Given the description of an element on the screen output the (x, y) to click on. 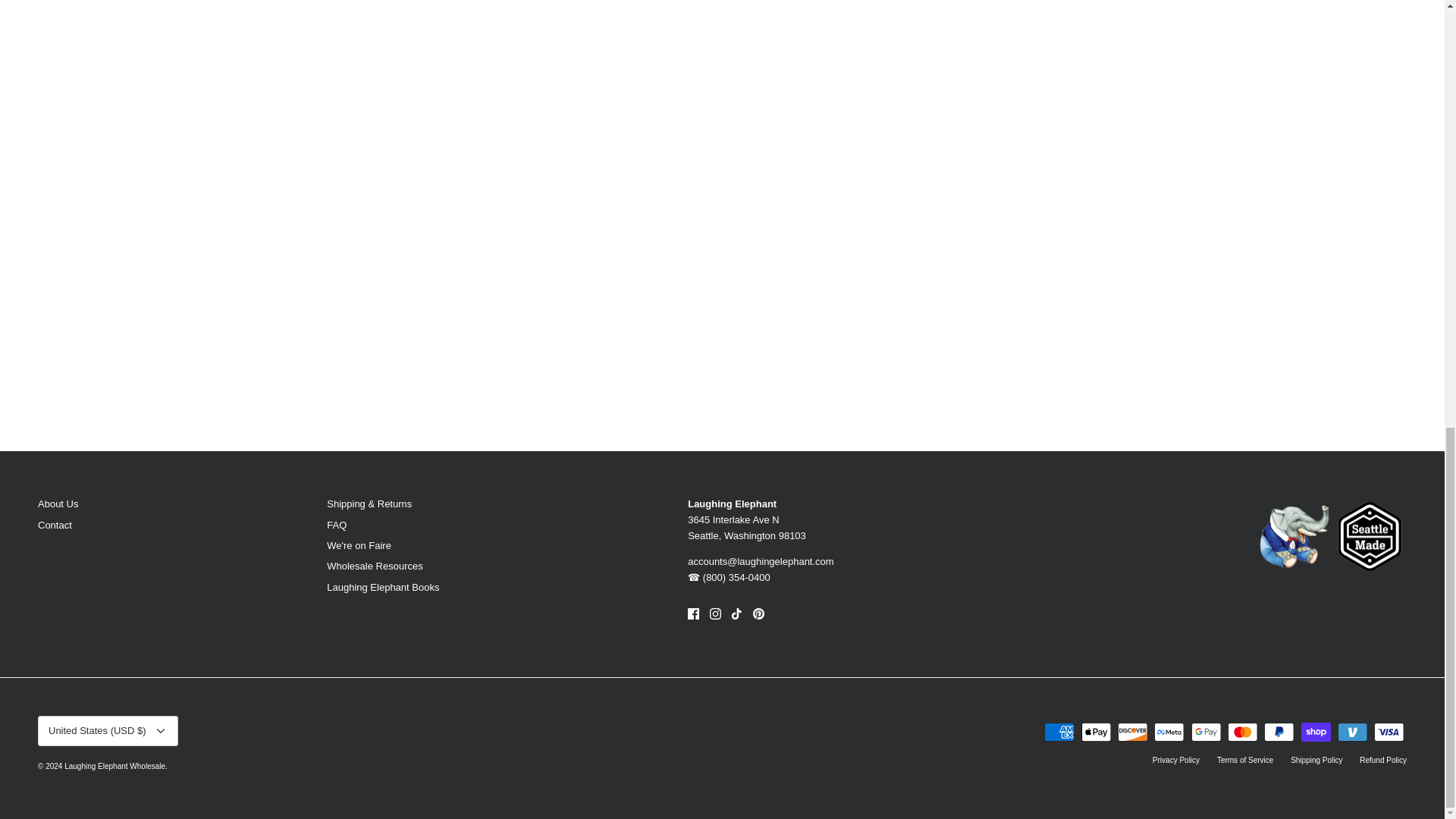
Pinterest (758, 613)
Facebook (692, 613)
Instagram (715, 613)
